Given the description of an element on the screen output the (x, y) to click on. 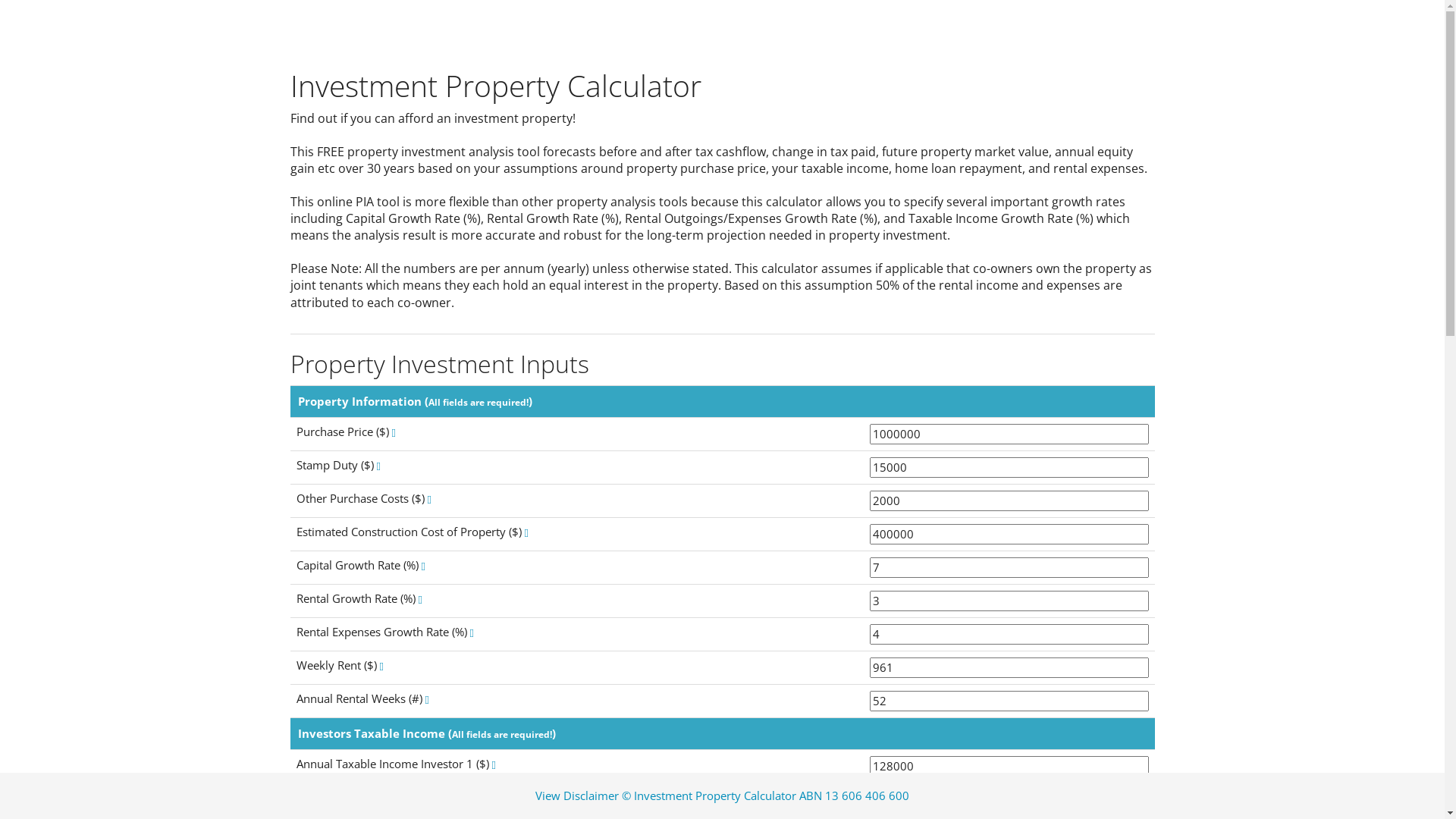
View Disclaimer Element type: text (576, 795)
